Given the description of an element on the screen output the (x, y) to click on. 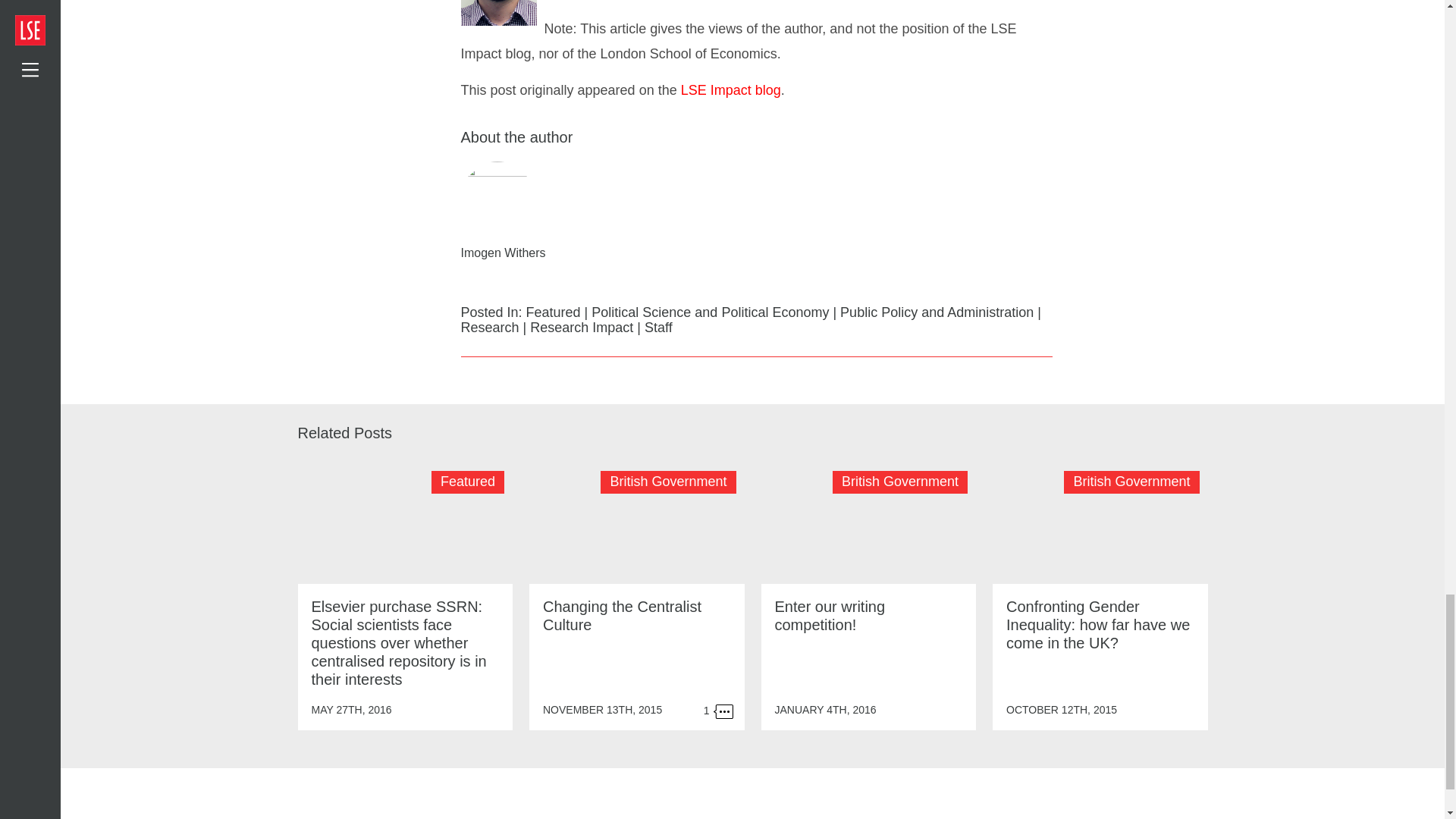
LSE Impact blog (730, 89)
